Given the description of an element on the screen output the (x, y) to click on. 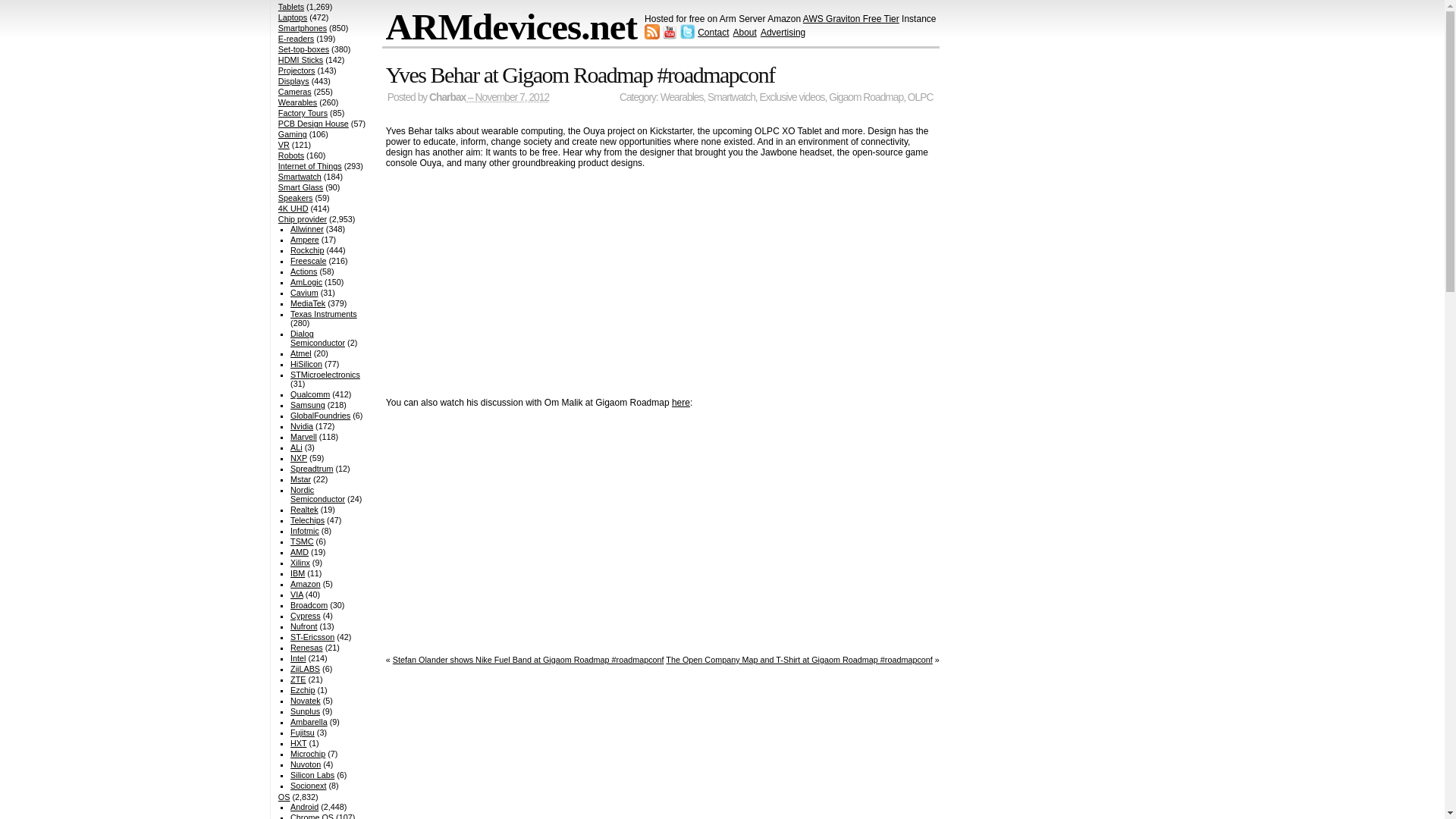
OLPC (920, 97)
Laptops (292, 17)
AWS Graviton Free Tier (851, 18)
E-readers (296, 38)
Subscribe on YouTube (669, 36)
About (743, 32)
Tablets (291, 6)
twitter (687, 36)
Gigaom Roadmap (865, 97)
ARMdevices.net (511, 26)
Advertising (782, 32)
Charbax (447, 97)
Projectors (296, 70)
Exclusive videos (792, 97)
Smartwatch (731, 97)
